Given the description of an element on the screen output the (x, y) to click on. 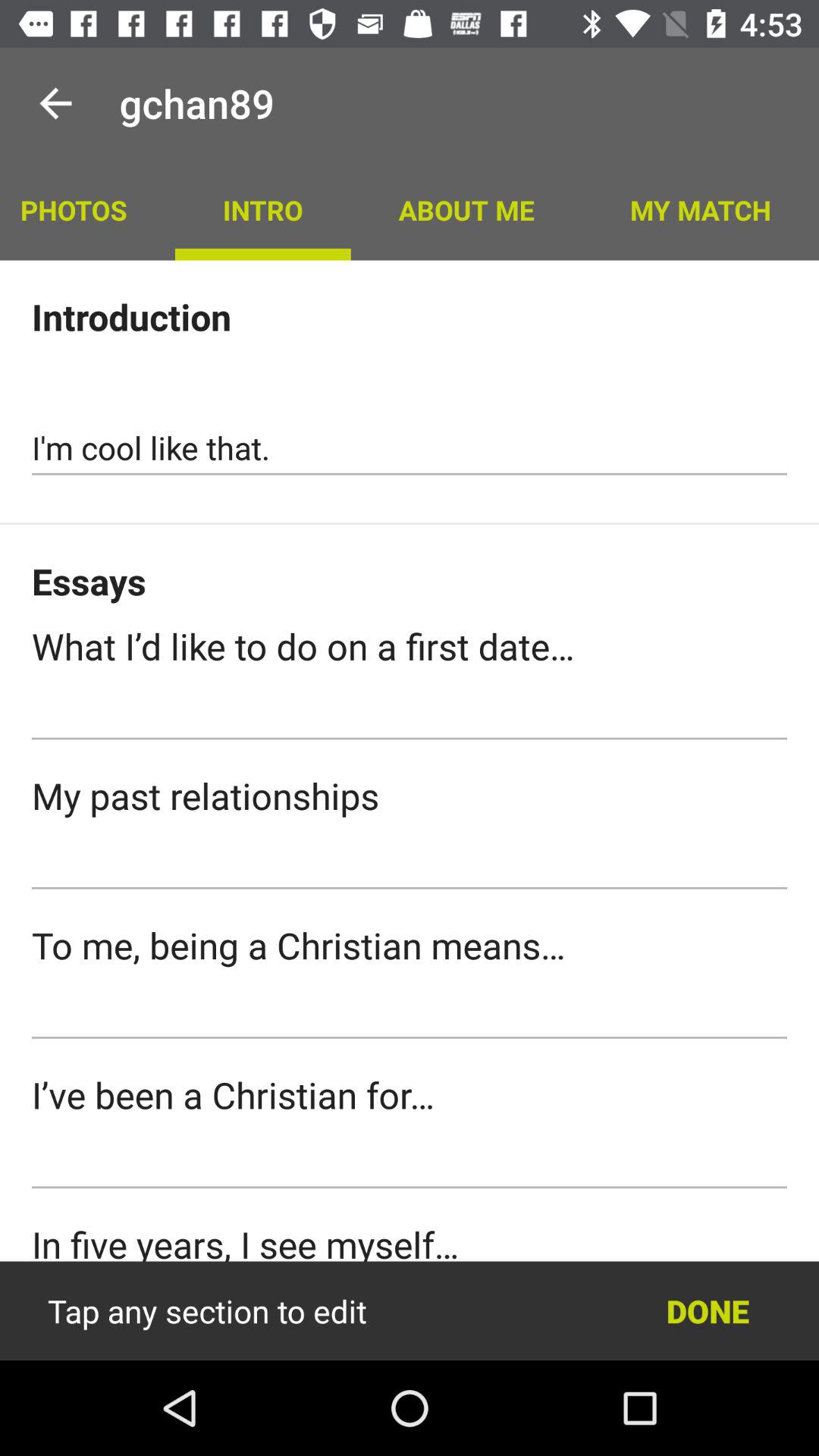
enter text (409, 862)
